Given the description of an element on the screen output the (x, y) to click on. 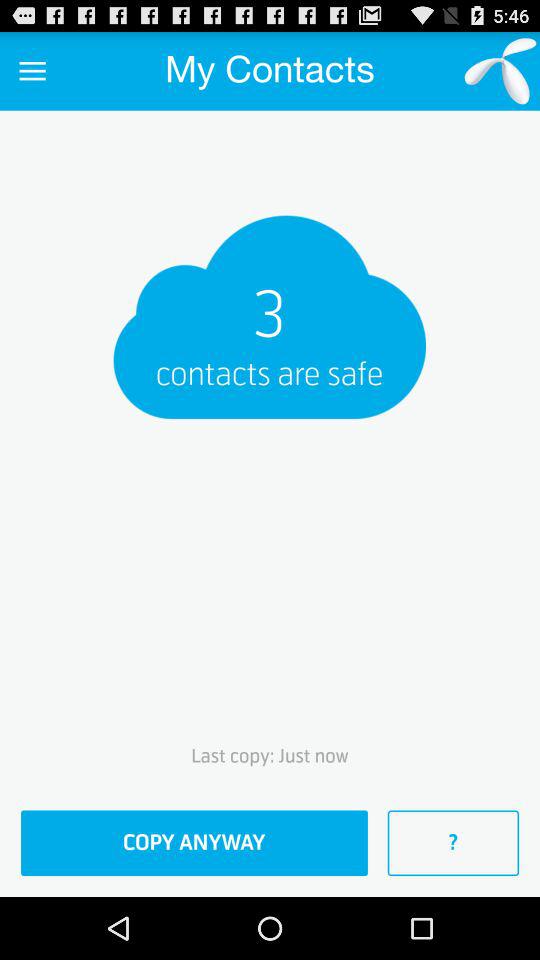
flip to the copy anyway item (194, 843)
